Given the description of an element on the screen output the (x, y) to click on. 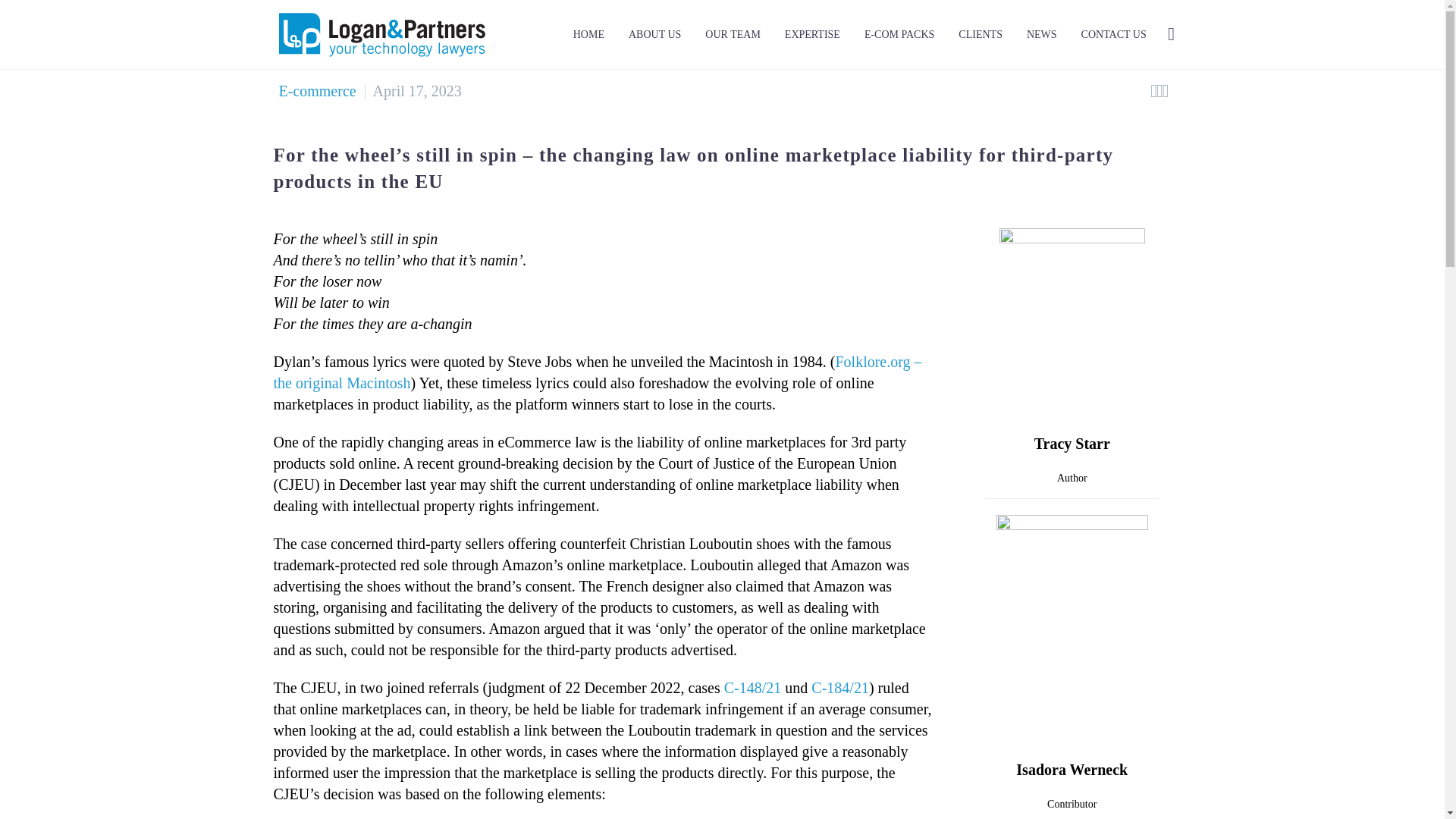
s (1323, 114)
View all posts in E-commerce (317, 90)
E-commerce (317, 90)
HOME (588, 34)
ABOUT US (654, 34)
NEWS (1041, 34)
E-COM PACKS (898, 34)
CLIENTS (980, 34)
EXPERTISE (812, 34)
OUR TEAM (732, 34)
CONTACT US (1113, 34)
